Given the description of an element on the screen output the (x, y) to click on. 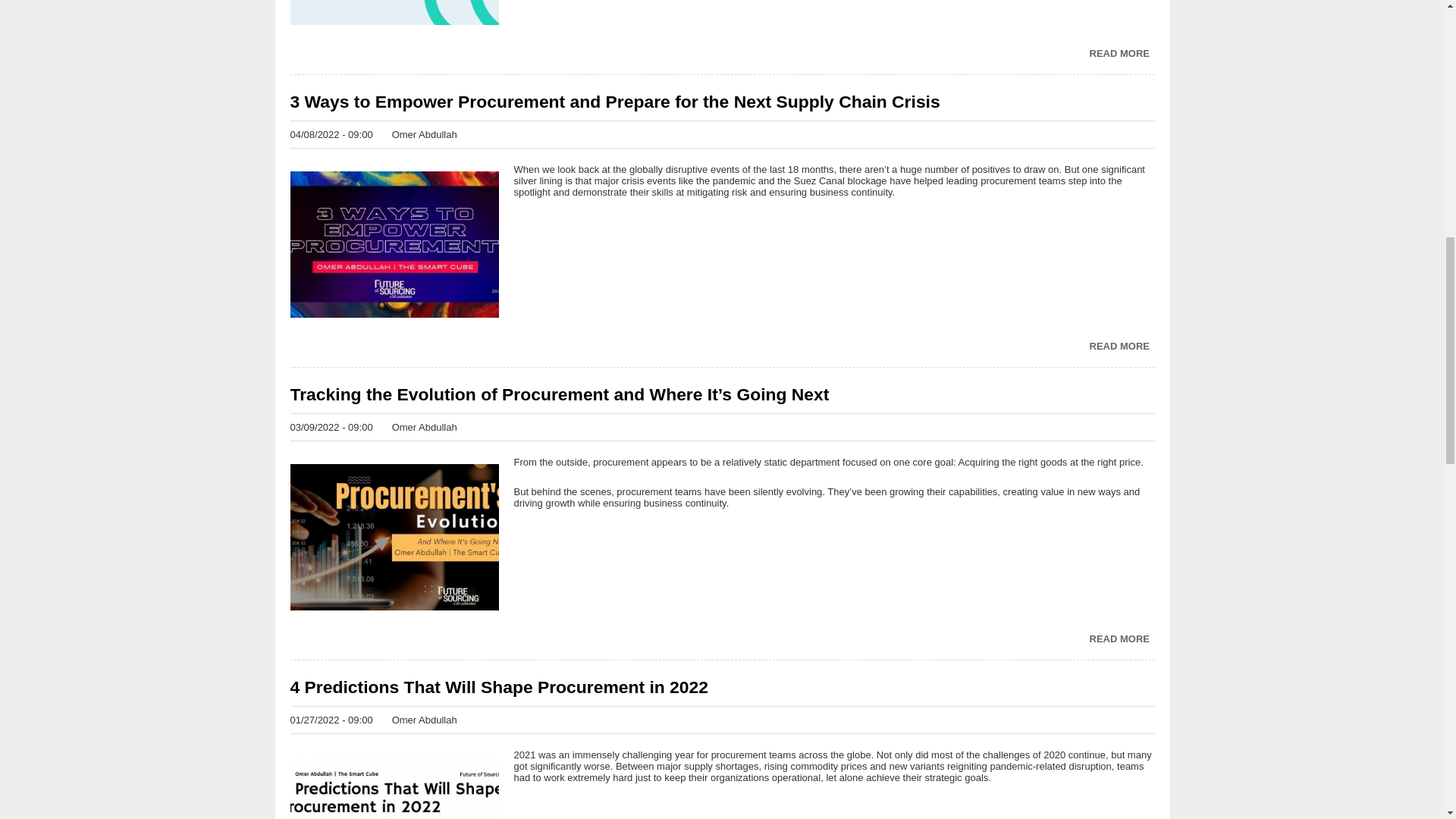
4 Predictions That Will Shape Procurement in 2022 (721, 686)
